Given the description of an element on the screen output the (x, y) to click on. 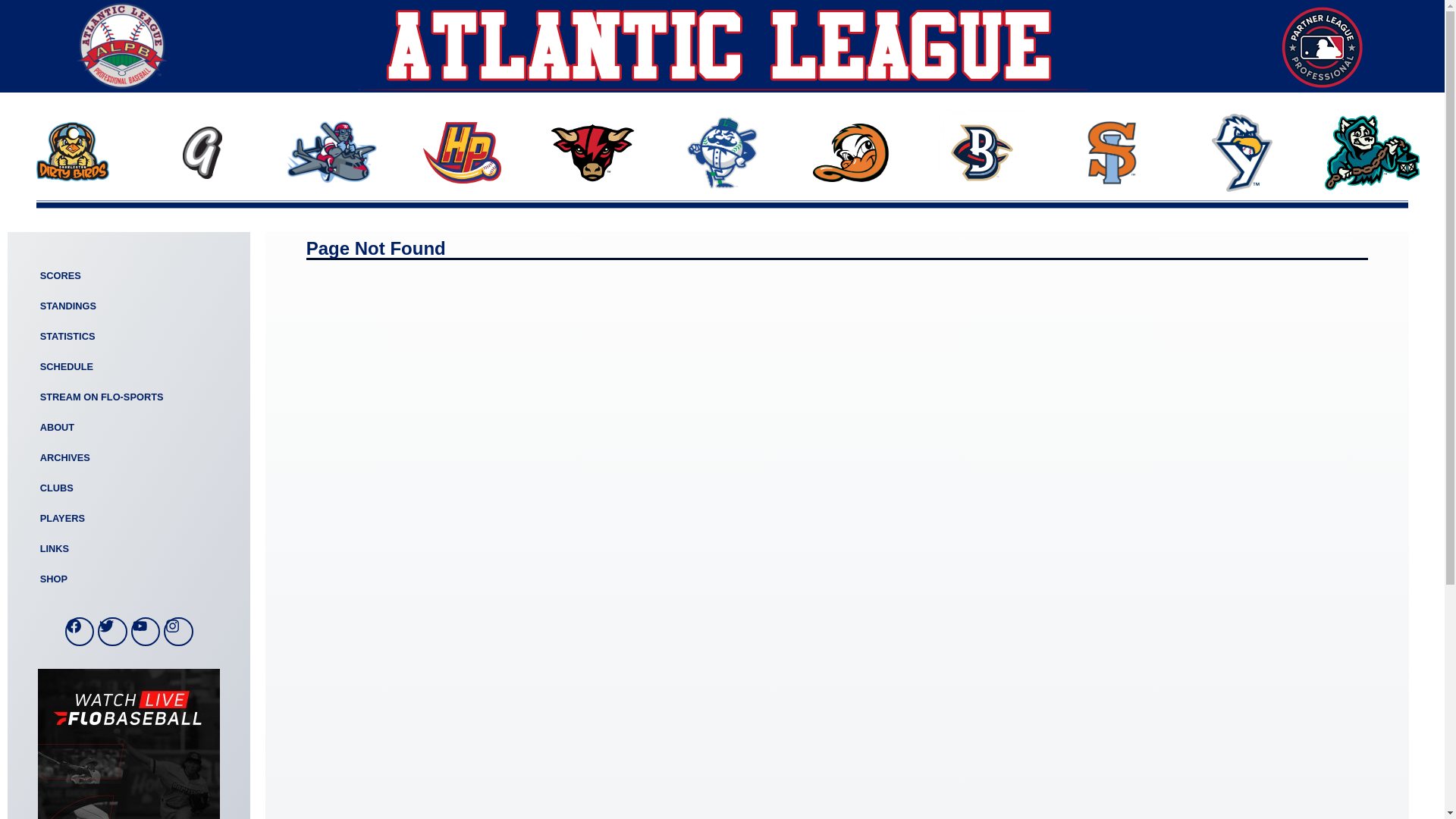
mlb-partner (1323, 45)
ALPB-Logo-primary2024-edited.png (121, 45)
